Given the description of an element on the screen output the (x, y) to click on. 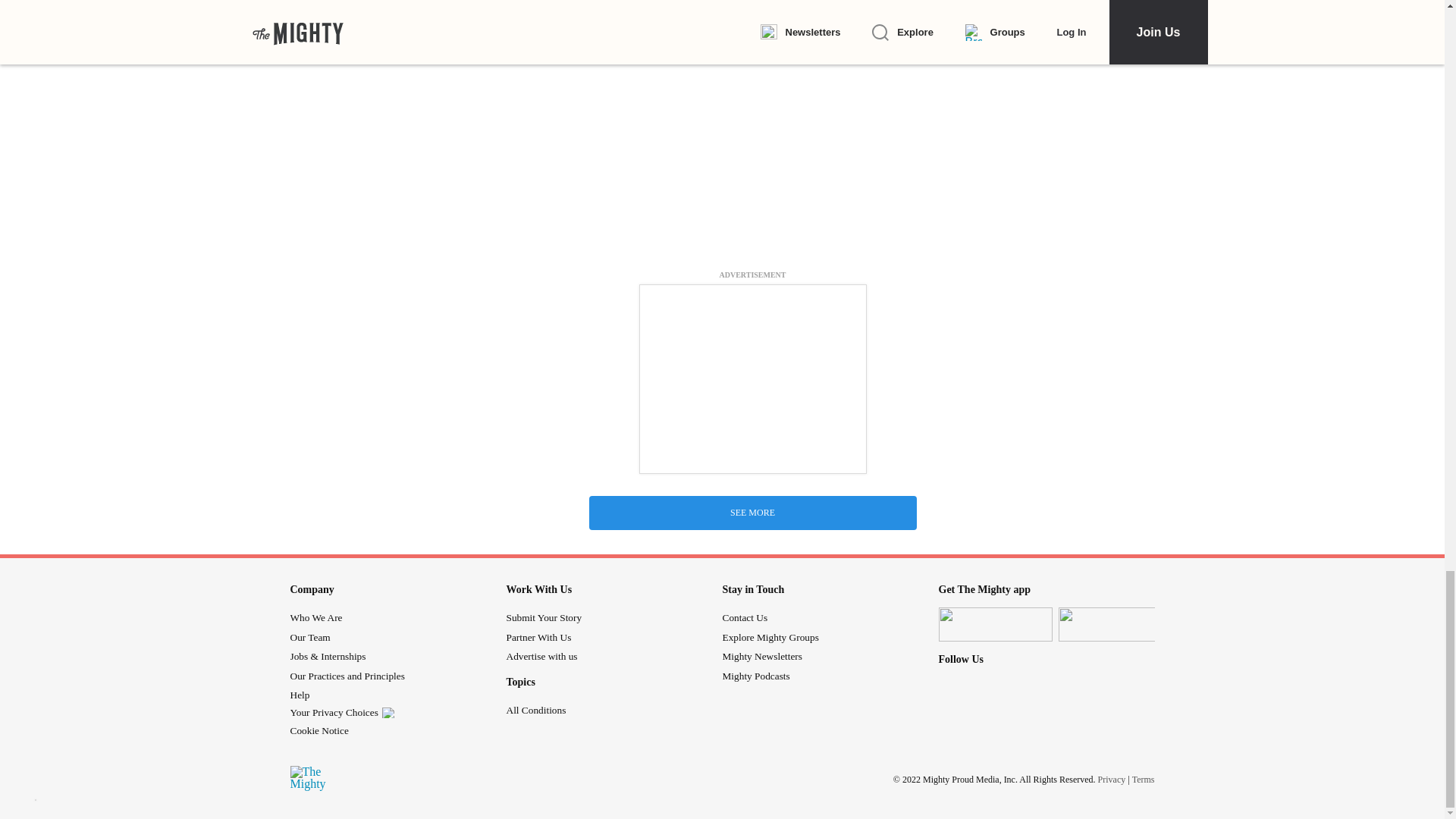
Our Team (309, 636)
Help (298, 695)
Who We Are (315, 617)
SEE MORE (751, 512)
Our Practices and Principles (346, 675)
